Given the description of an element on the screen output the (x, y) to click on. 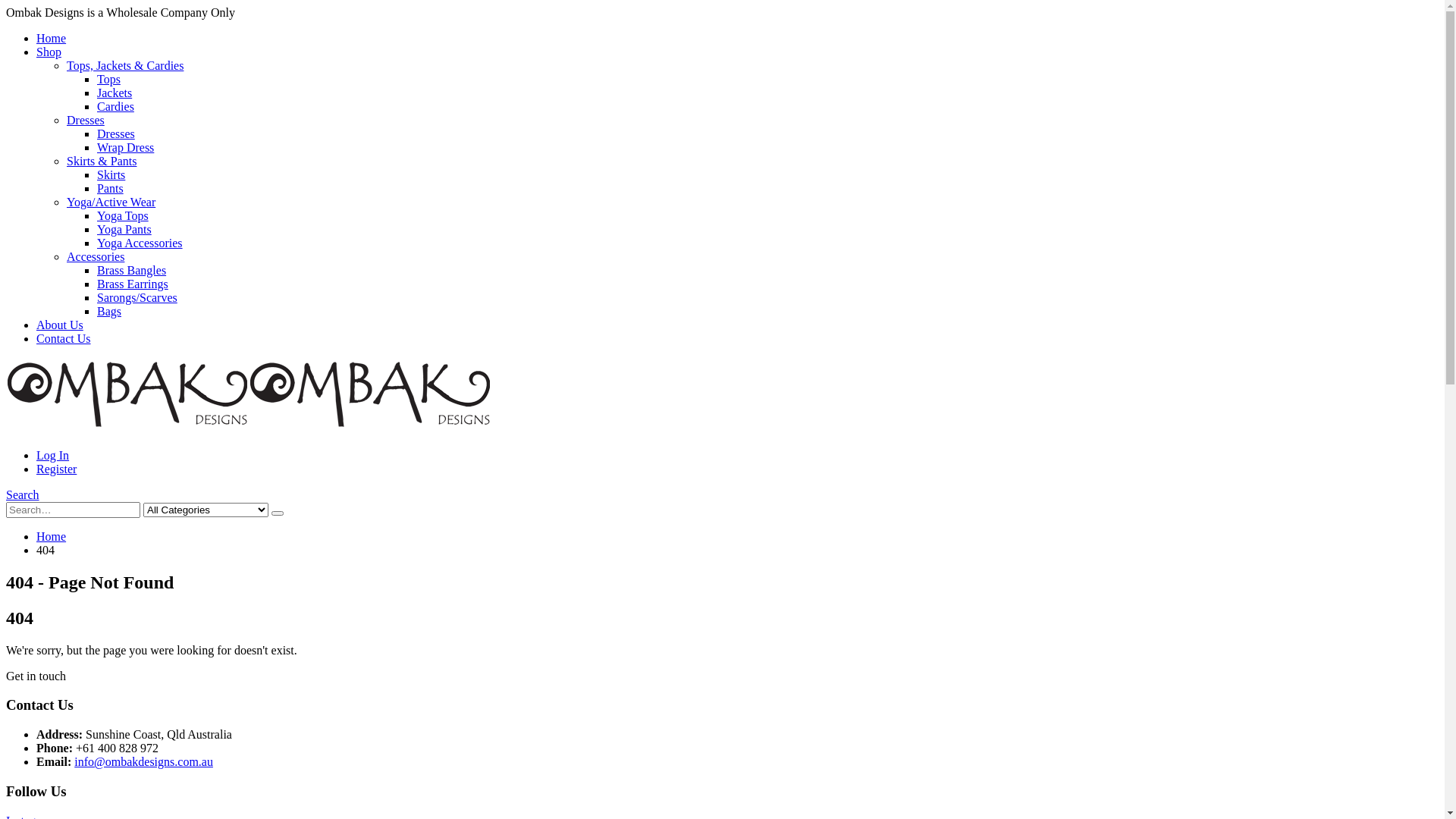
Contact Us Element type: text (63, 338)
Jackets Element type: text (114, 92)
Dresses Element type: text (85, 119)
Brass Bangles Element type: text (131, 269)
Tops Element type: text (108, 78)
Shop Element type: text (48, 51)
Brass Earrings Element type: text (132, 283)
Dresses Element type: text (115, 133)
Register Element type: text (56, 468)
Bags Element type: text (109, 310)
Pants Element type: text (110, 188)
Cardies Element type: text (115, 106)
Accessories Element type: text (95, 256)
Sarongs/Scarves Element type: text (137, 297)
Skirts & Pants Element type: text (101, 160)
Yoga Tops Element type: text (122, 215)
Yoga Accessories Element type: text (139, 242)
info@ombakdesigns.com.au Element type: text (143, 761)
About Us Element type: text (59, 324)
Tops, Jackets & Cardies Element type: text (124, 65)
Home Element type: text (50, 37)
Search Element type: text (22, 494)
OMBAK - WholeSale Company Element type: hover (248, 429)
Home Element type: text (50, 536)
Search Element type: hover (277, 513)
Wrap Dress Element type: text (125, 147)
Yoga Pants Element type: text (124, 228)
Skirts Element type: text (111, 174)
Yoga/Active Wear Element type: text (110, 201)
Log In Element type: text (52, 454)
